Given the description of an element on the screen output the (x, y) to click on. 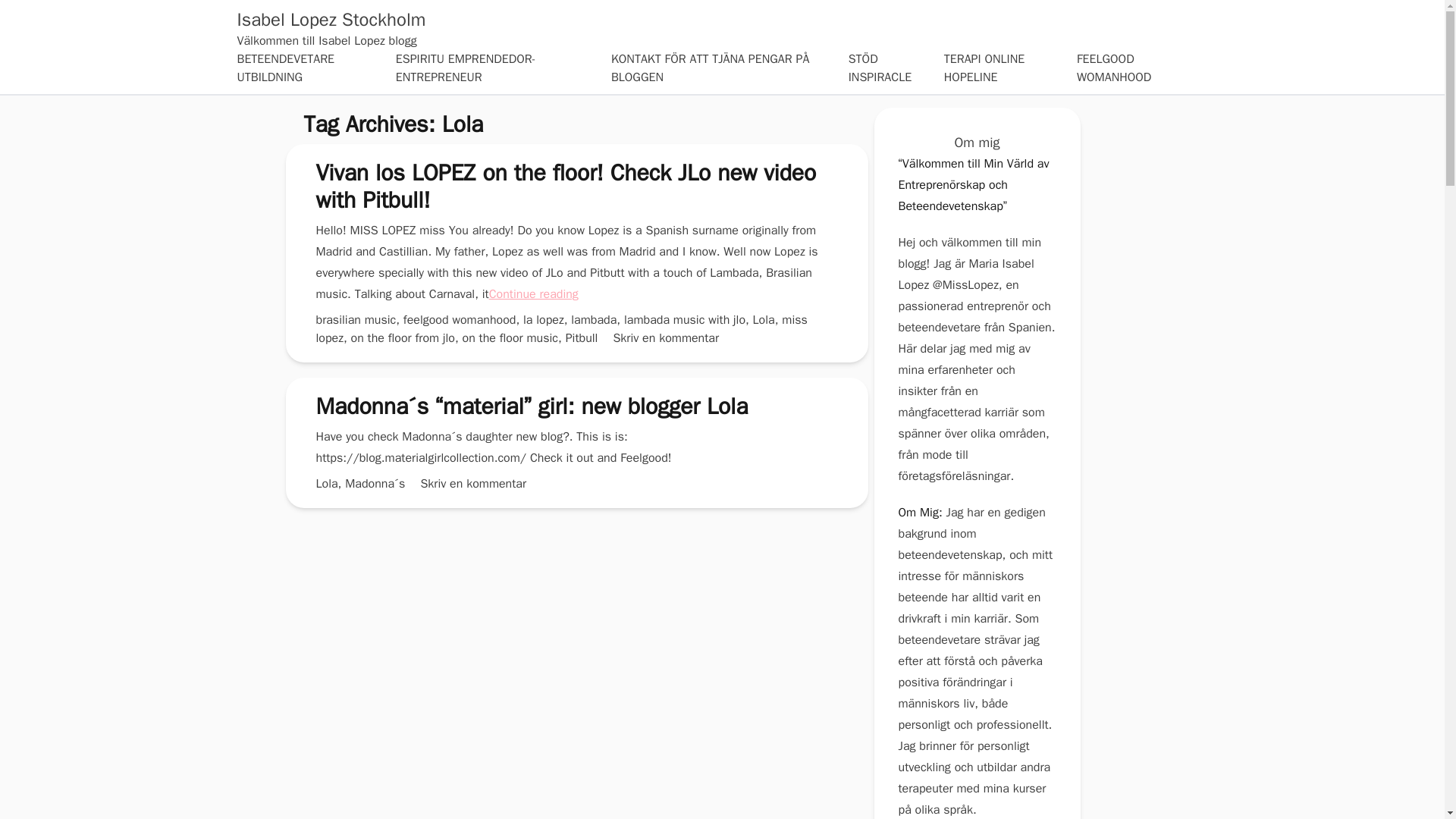
ESPIRITU EMPRENDEDOR- ENTREPRENEUR (465, 68)
TERAPI ONLINE HOPELINE (984, 68)
brasilian music (355, 319)
on the floor music (511, 337)
Lola (763, 319)
miss lopez (560, 328)
Lola (326, 483)
lambada music with jlo (684, 319)
on the floor from jlo (402, 337)
BETEENDEVETARE UTBILDNING (284, 68)
Isabel Lopez Stockholm (330, 19)
FEELGOOD WOMANHOOD (1114, 68)
feelgood womanhood (459, 319)
Pitbull (582, 337)
